Given the description of an element on the screen output the (x, y) to click on. 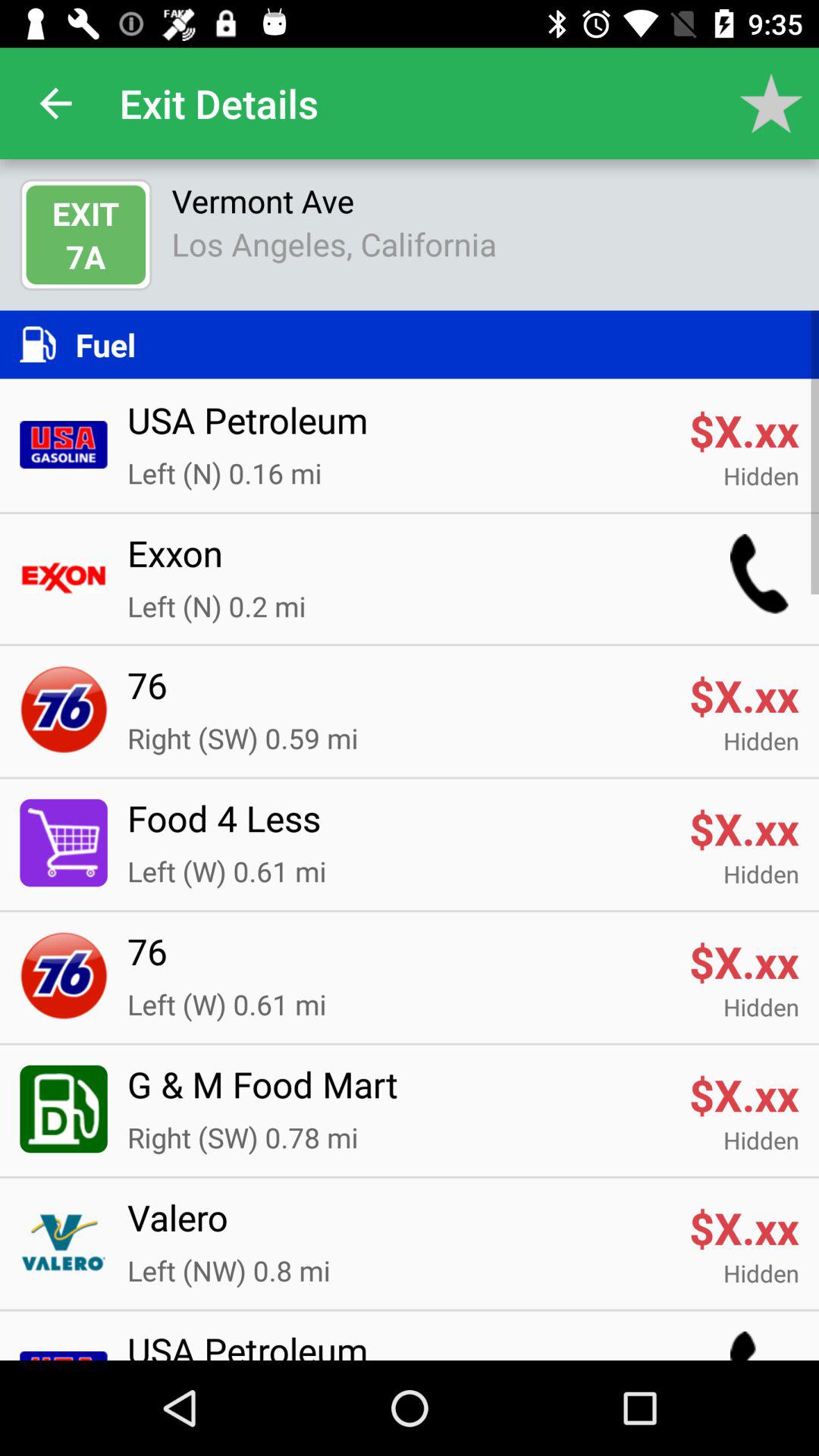
launch the icon to the left of fuel (47, 344)
